Given the description of an element on the screen output the (x, y) to click on. 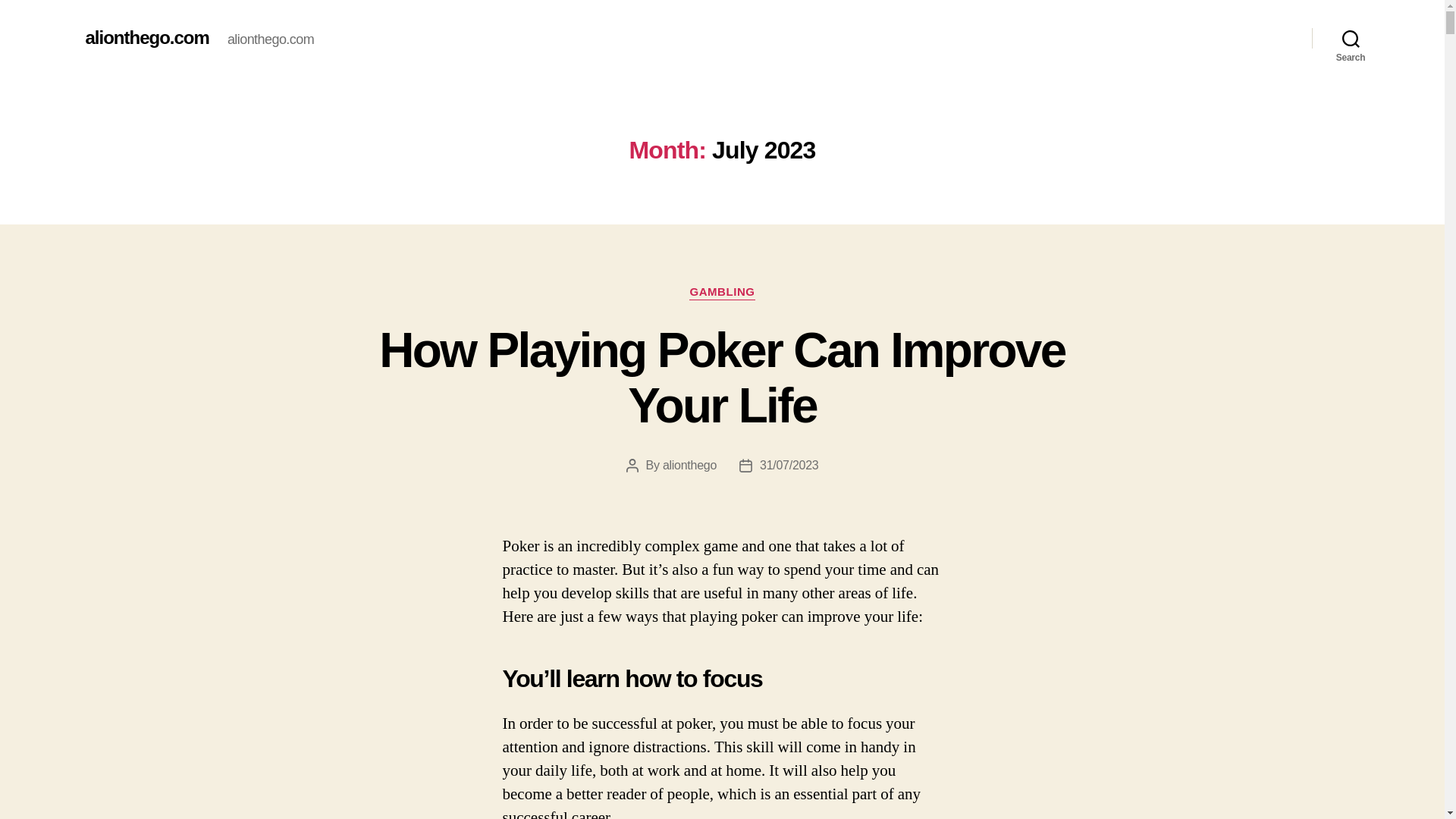
alionthego.com (146, 37)
alionthego (689, 464)
GAMBLING (721, 292)
How Playing Poker Can Improve Your Life (721, 377)
Search (1350, 37)
